Given the description of an element on the screen output the (x, y) to click on. 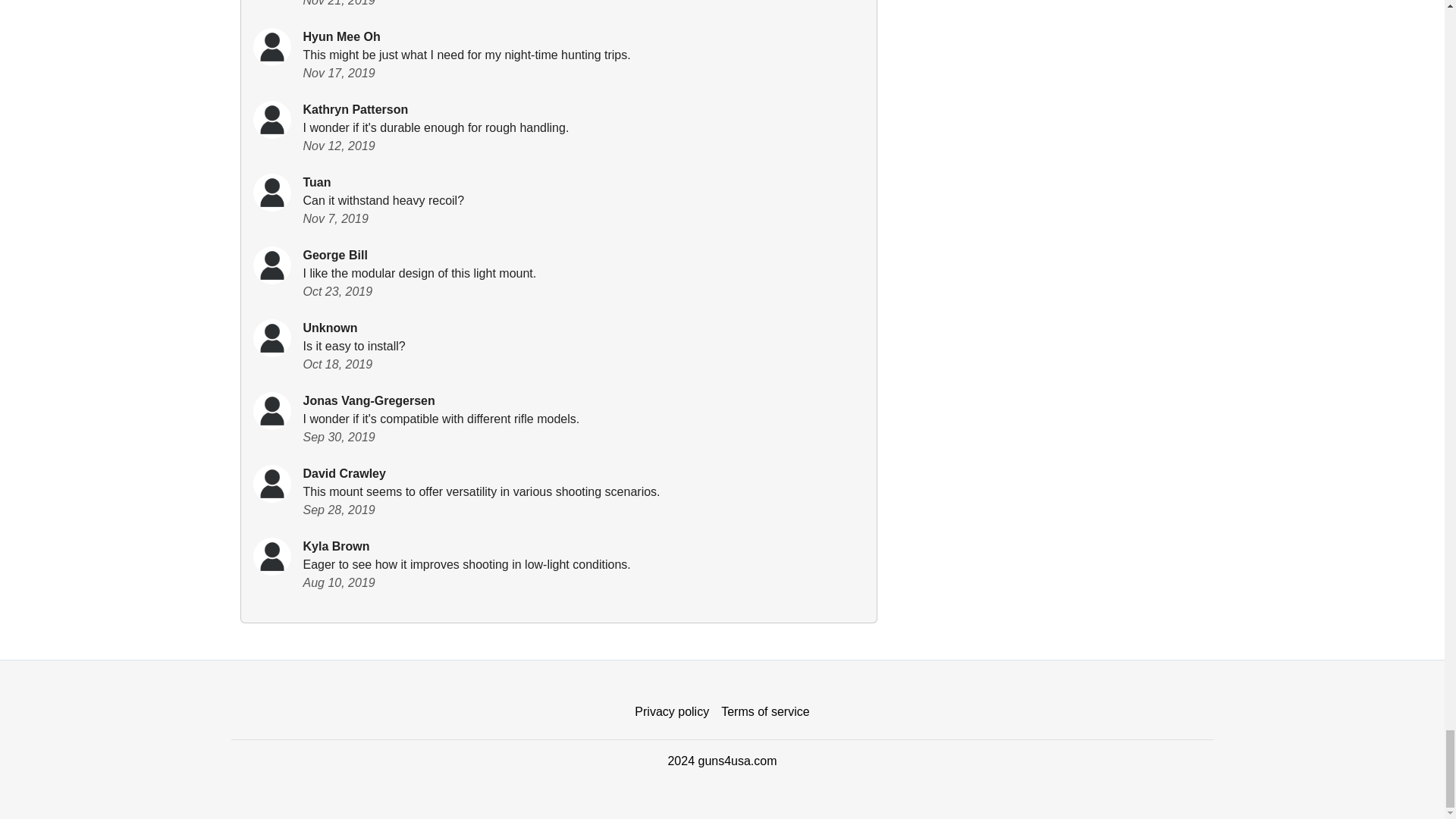
Privacy policy (671, 711)
Terms of service (764, 711)
